Given the description of an element on the screen output the (x, y) to click on. 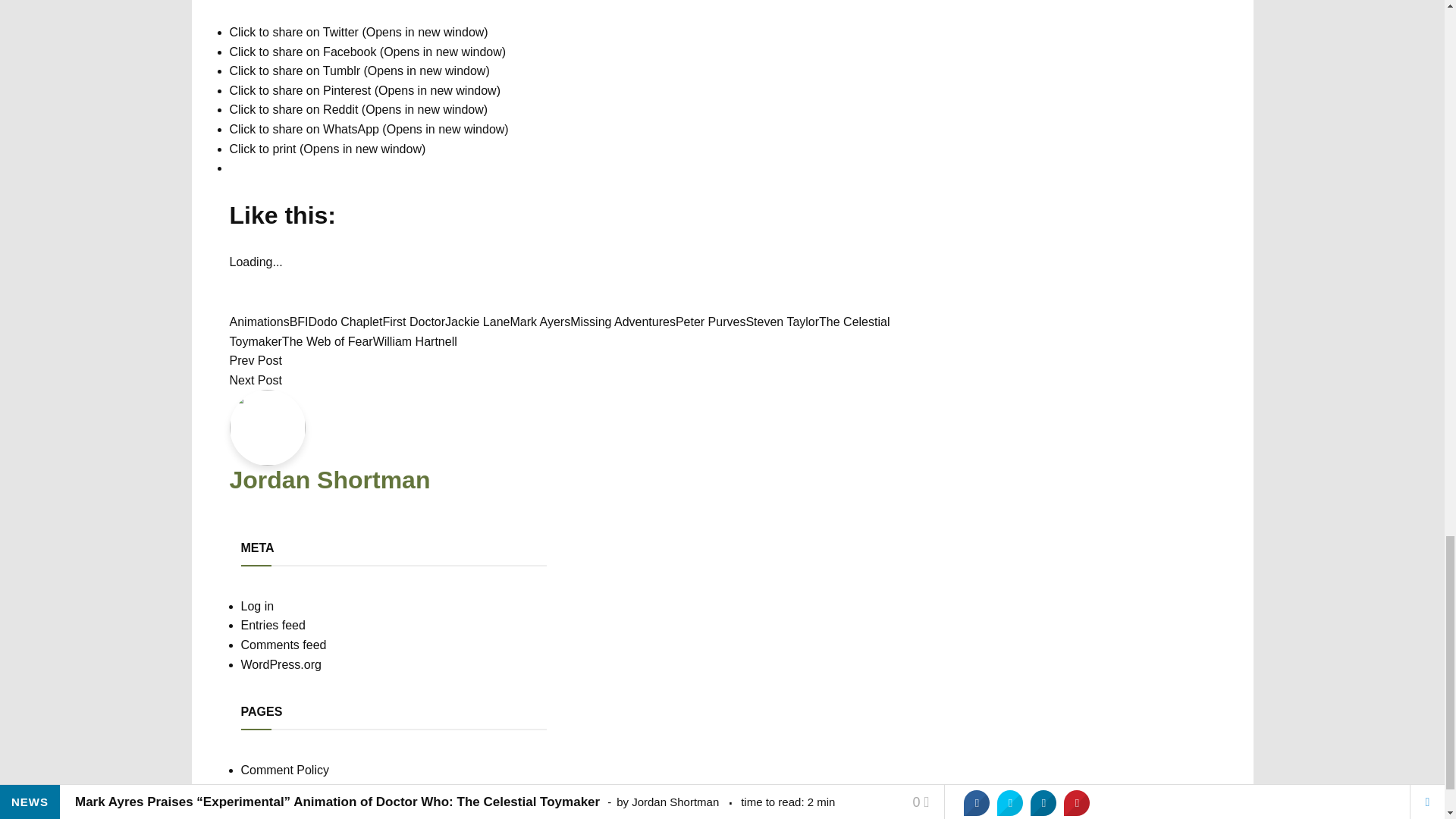
Click to share on Reddit (357, 109)
Click to share on Twitter (357, 31)
Click to share on Pinterest (364, 90)
Click to share on Facebook (366, 51)
Click to share on Tumblr (358, 70)
Click to share on WhatsApp (368, 128)
Click to print (326, 148)
